Given the description of an element on the screen output the (x, y) to click on. 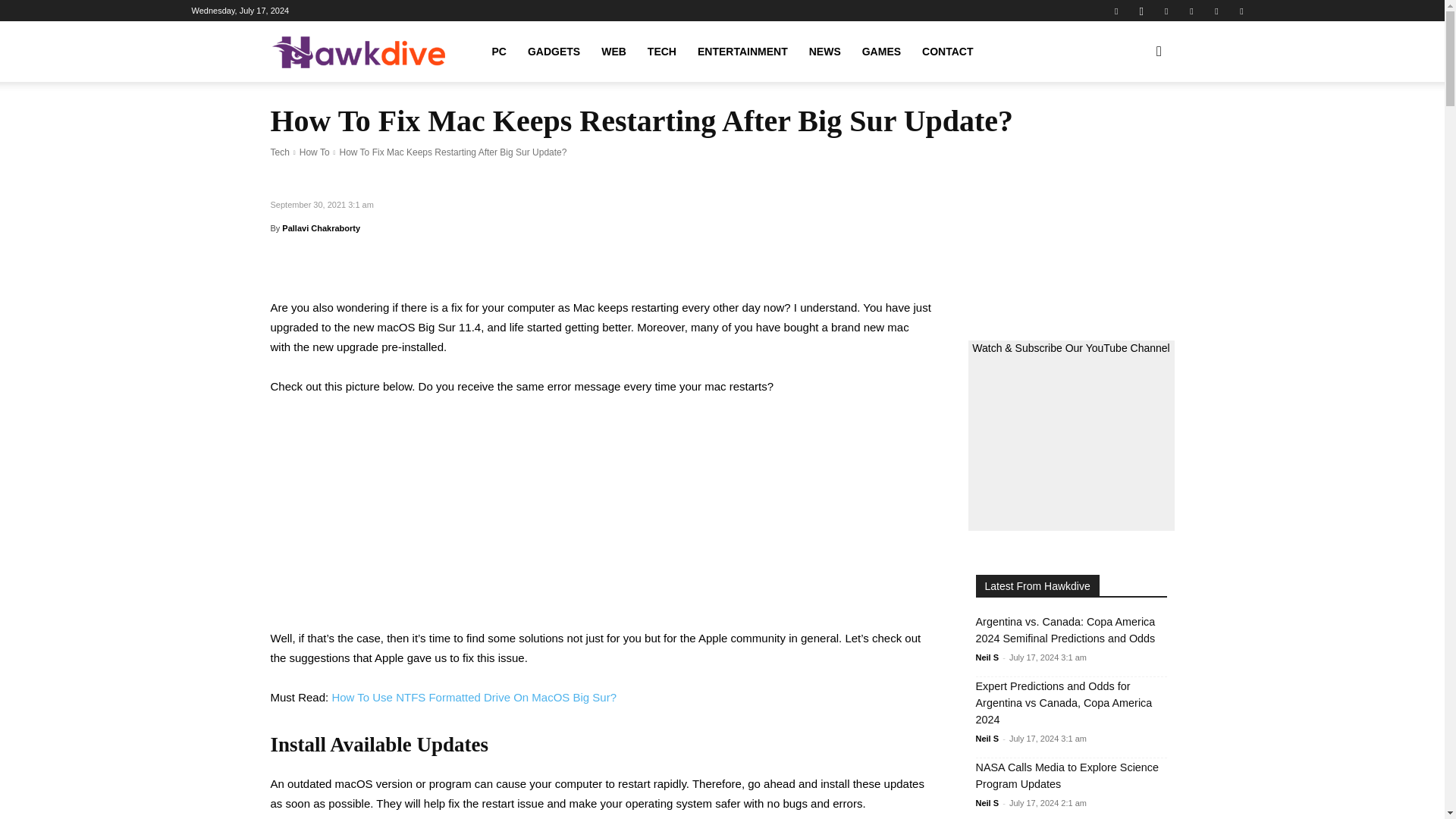
Twitter (1216, 10)
Pinterest (1165, 10)
Telegram (1190, 10)
Youtube (1241, 10)
Hawkdive (357, 51)
Instagram (1141, 10)
Facebook (1115, 10)
